Given the description of an element on the screen output the (x, y) to click on. 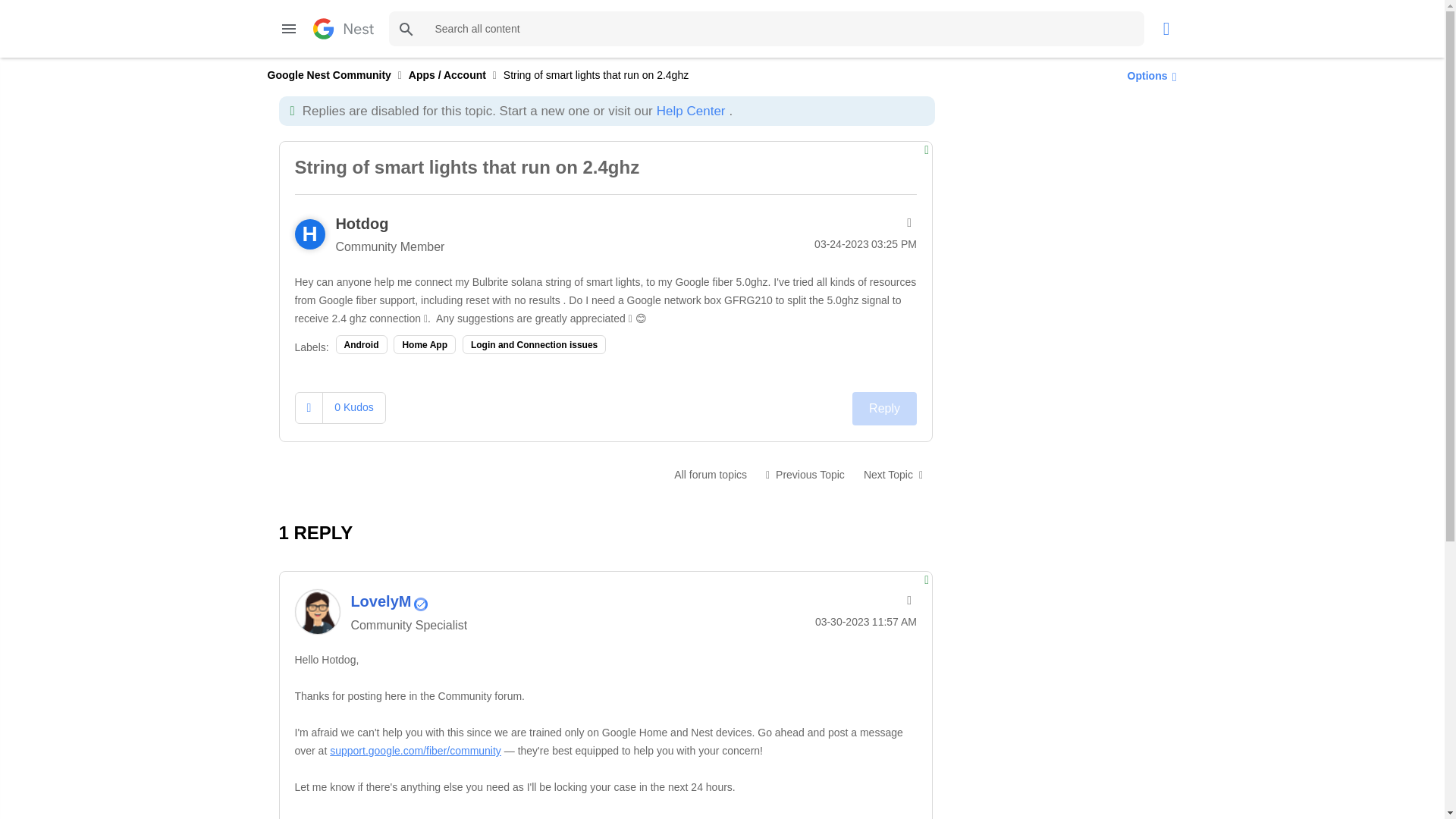
Options (1147, 75)
Community Specialist (420, 603)
Search (405, 29)
Search (405, 29)
Menu (287, 28)
Google Nest Community (328, 74)
Click here to give kudos to this post. (309, 407)
Search (765, 28)
Schedules on Family WiFi keep disabling (804, 474)
Android (361, 343)
LovelyM (316, 611)
Help Center (690, 110)
Google Nest Community (342, 28)
The total number of kudos this post has received. (353, 407)
